Given the description of an element on the screen output the (x, y) to click on. 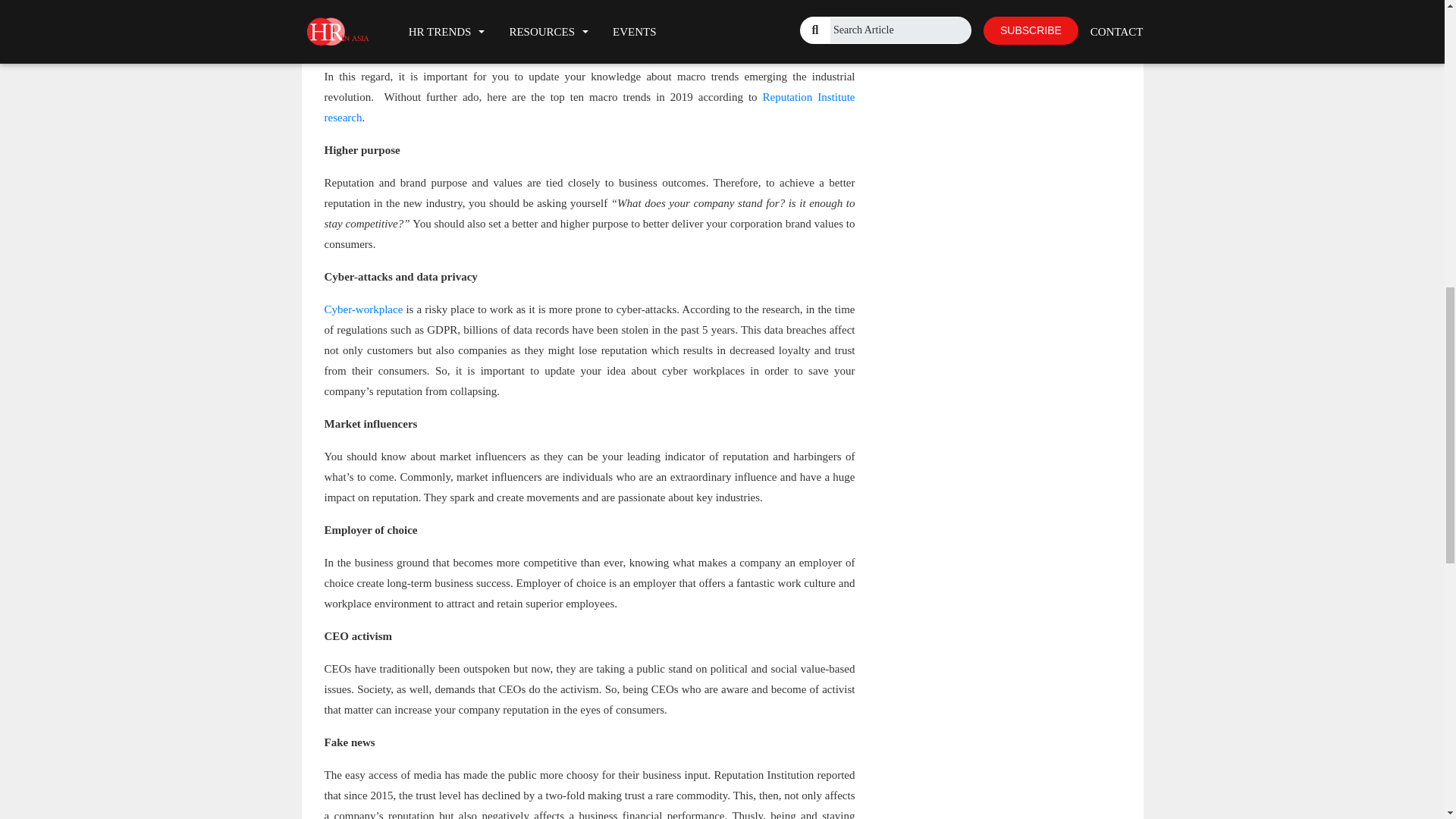
Reputation Institute research (590, 106)
Cyber-workplace (363, 309)
